Given the description of an element on the screen output the (x, y) to click on. 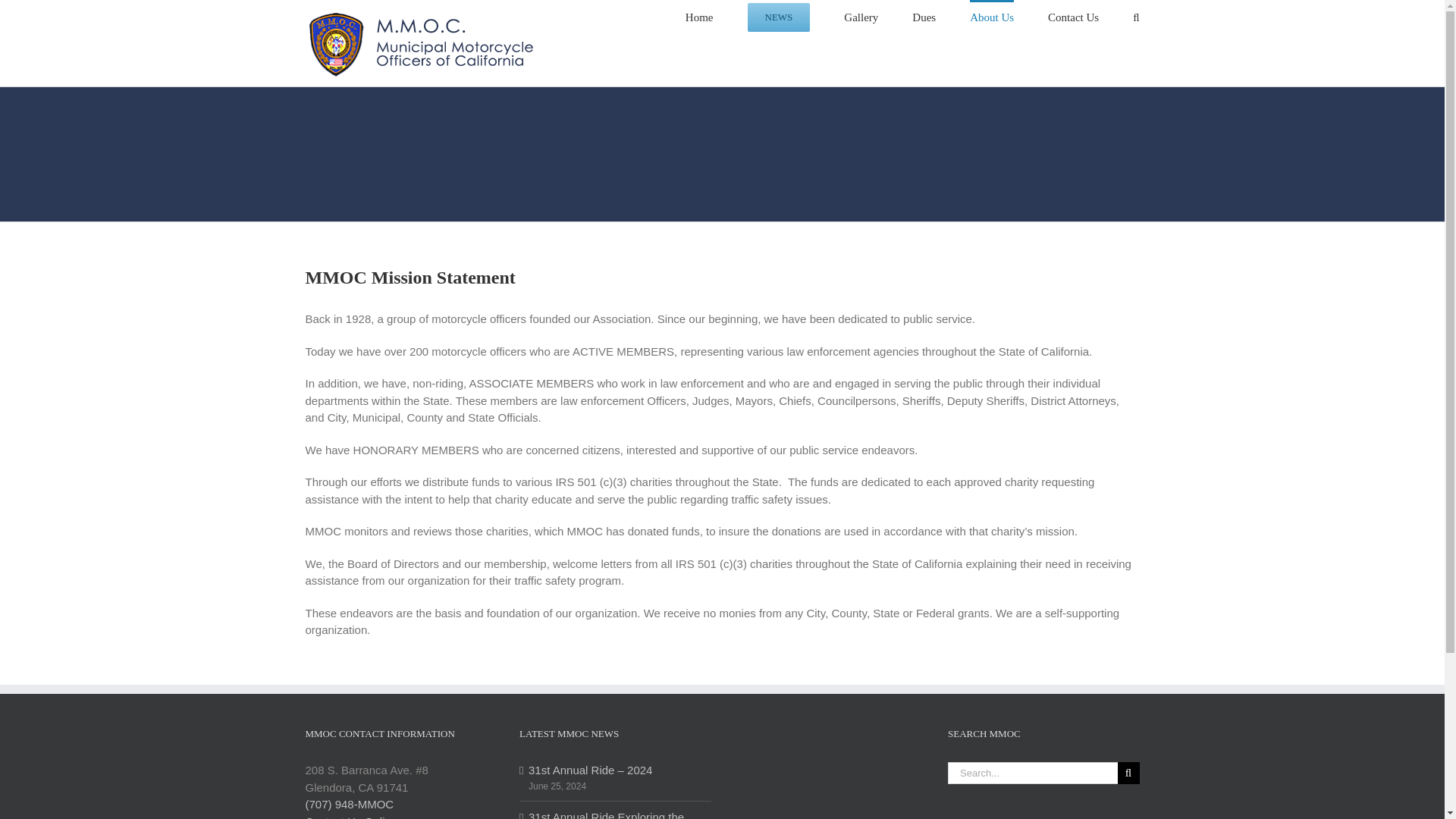
About Us (991, 16)
Gallery (860, 16)
Contact Us (1073, 16)
Contact Us Online (350, 816)
NEWS (779, 16)
